Given the description of an element on the screen output the (x, y) to click on. 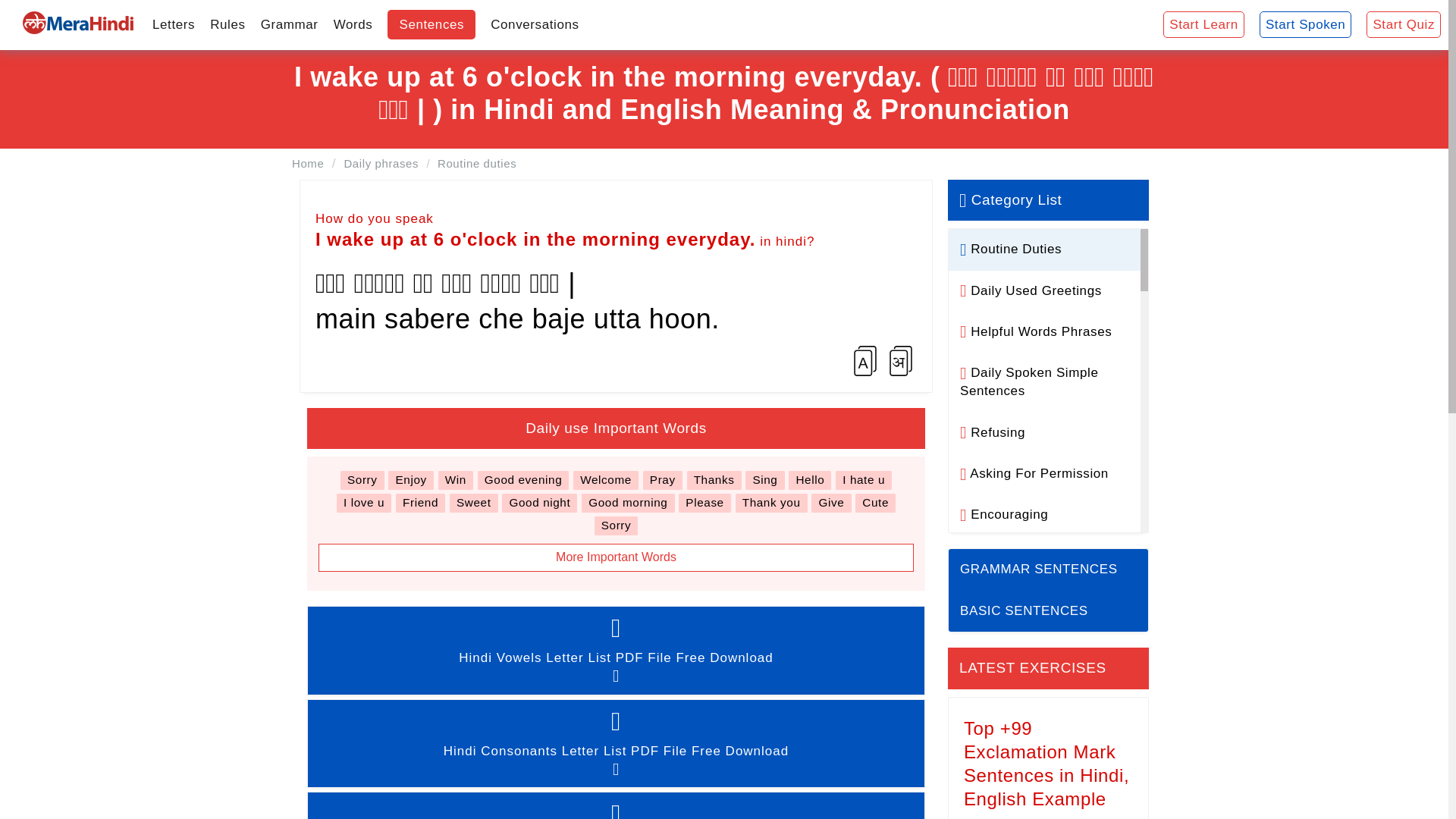
Start Spoken (1305, 25)
Copy Hindi Letter (900, 360)
Sentences (431, 24)
Grammar (289, 24)
Start Learn (1204, 25)
Words (353, 24)
Rules (226, 24)
Conversations (534, 24)
Copy English Letter (865, 360)
Letters (173, 24)
